Given the description of an element on the screen output the (x, y) to click on. 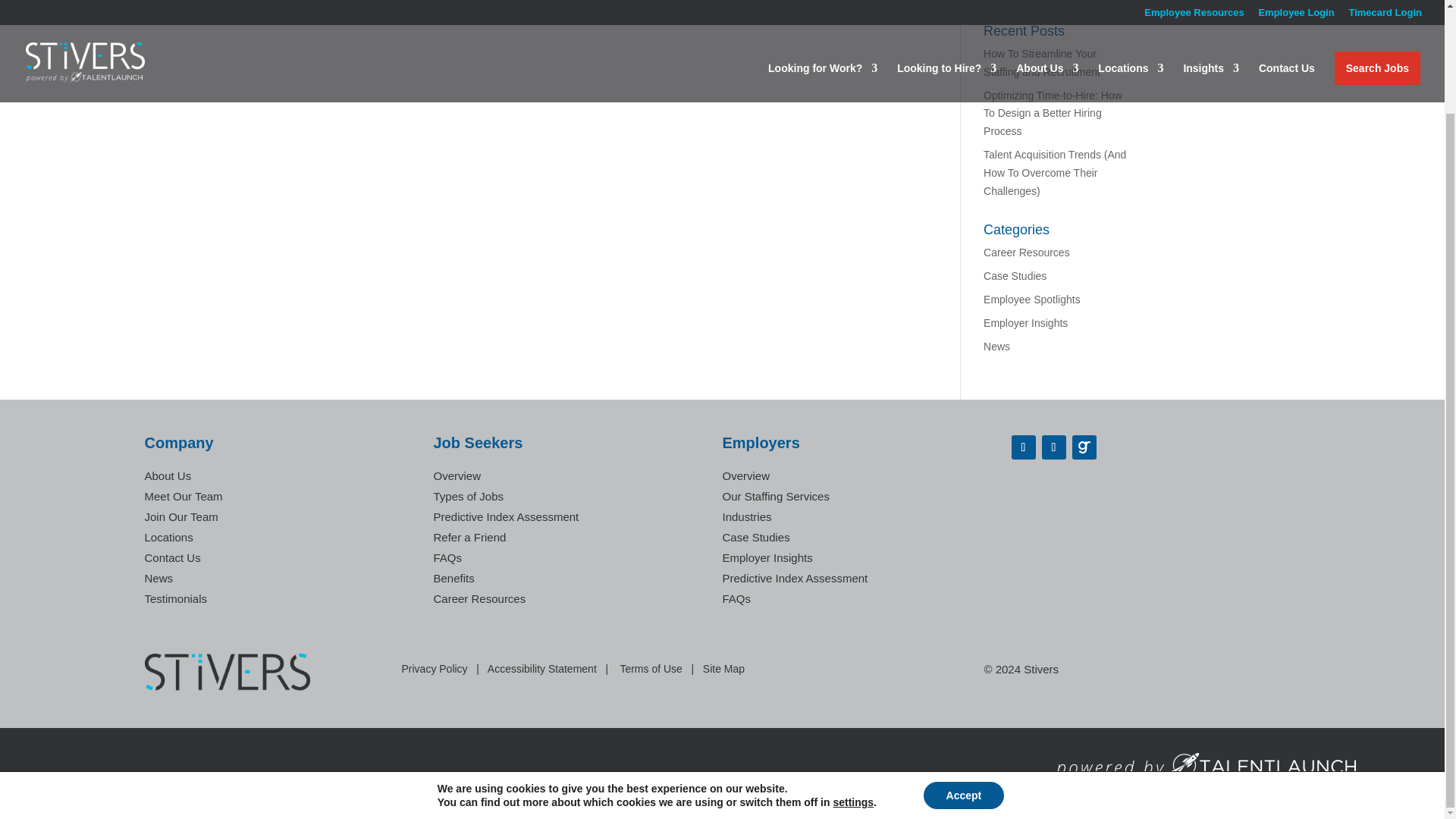
Follow on LinkedIn (1053, 446)
Follow on google-plus (1083, 446)
Search (1106, 0)
Follow on Facebook (1023, 446)
